Given the description of an element on the screen output the (x, y) to click on. 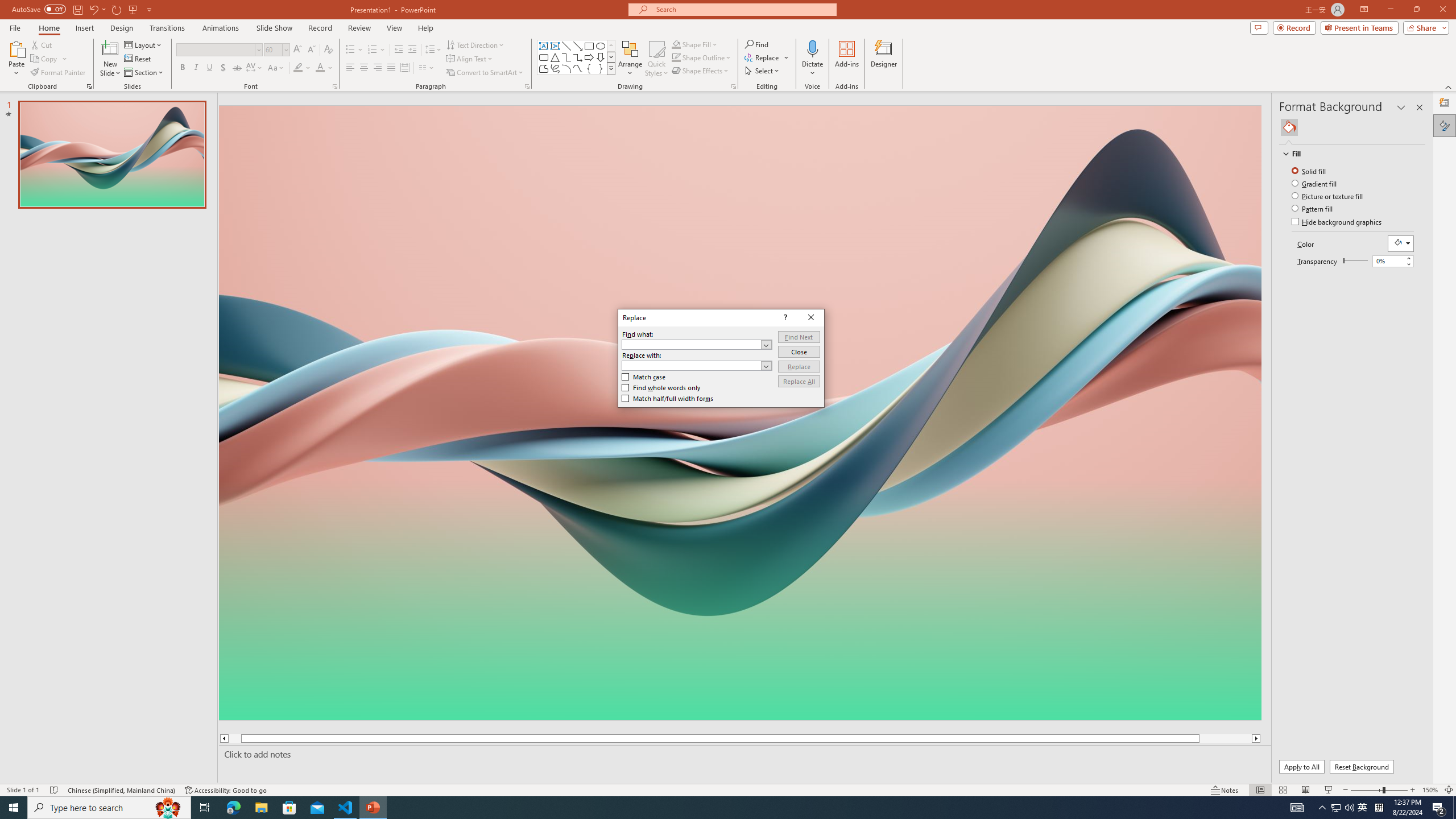
Find what (696, 344)
Accessibility Checker Accessibility: Good to go (226, 790)
